Given the description of an element on the screen output the (x, y) to click on. 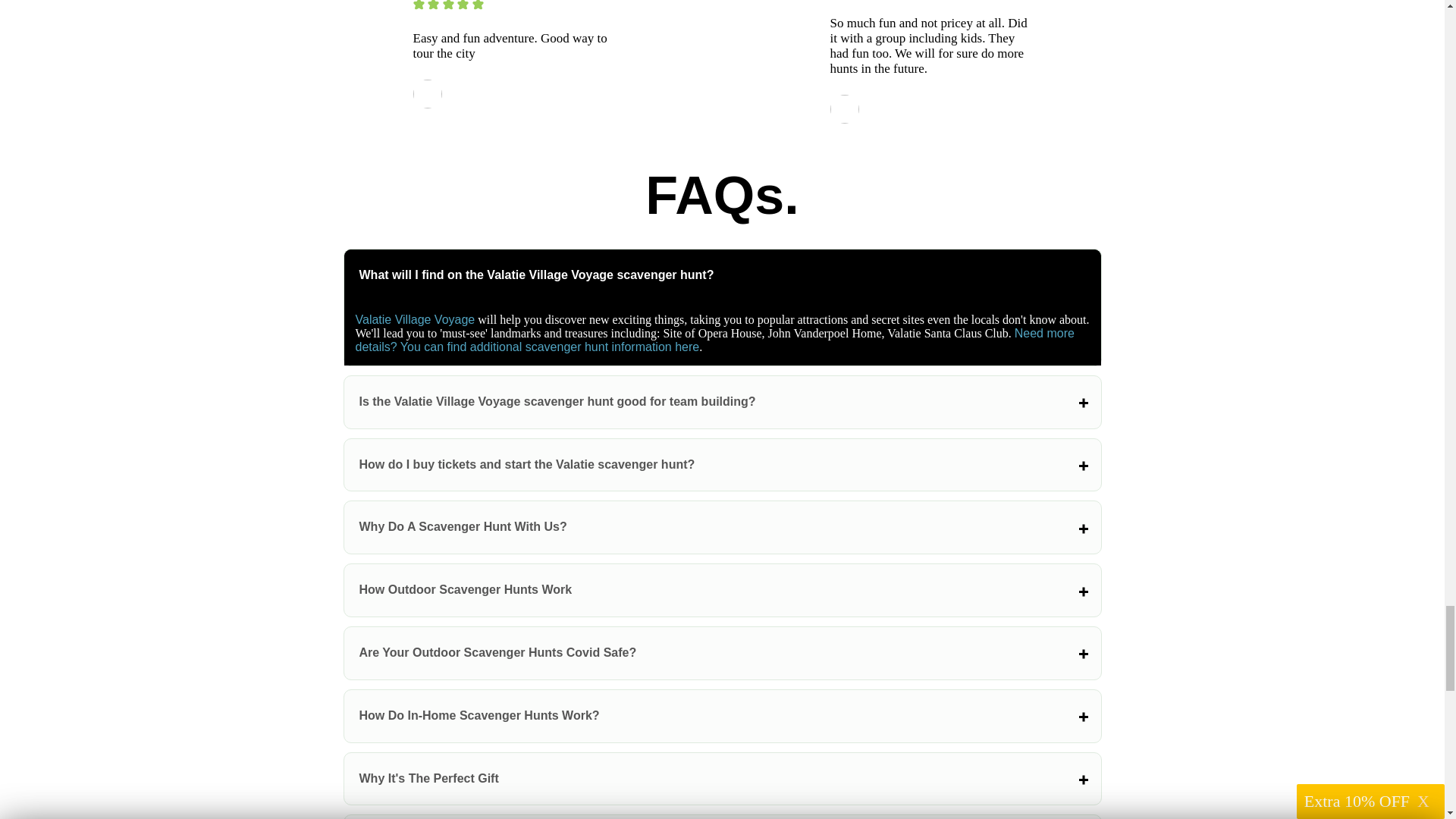
Valatie Village Voyage (414, 318)
